Given the description of an element on the screen output the (x, y) to click on. 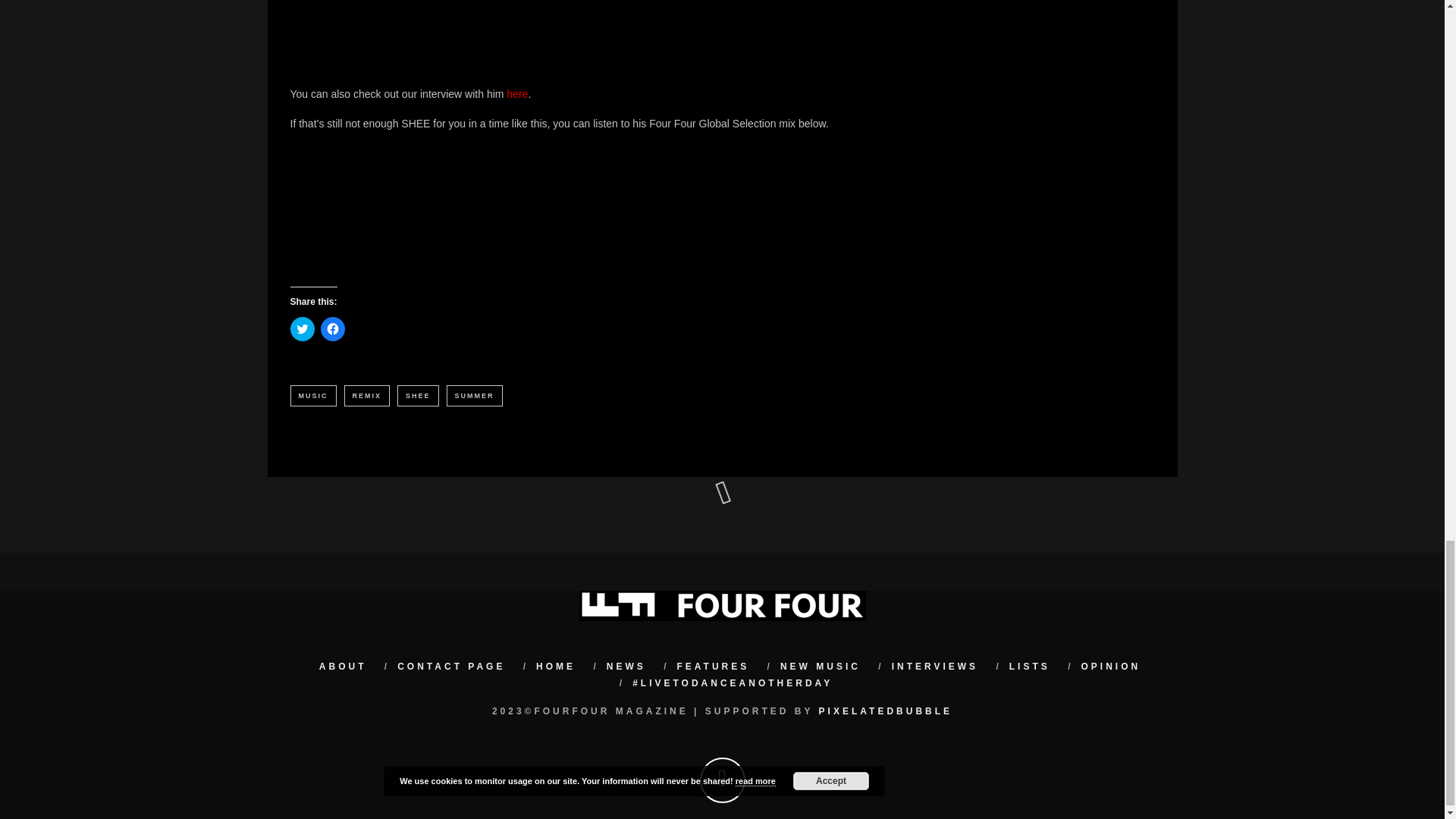
Click to share on Twitter (301, 328)
Click to share on Facebook (331, 328)
here (516, 93)
